Given the description of an element on the screen output the (x, y) to click on. 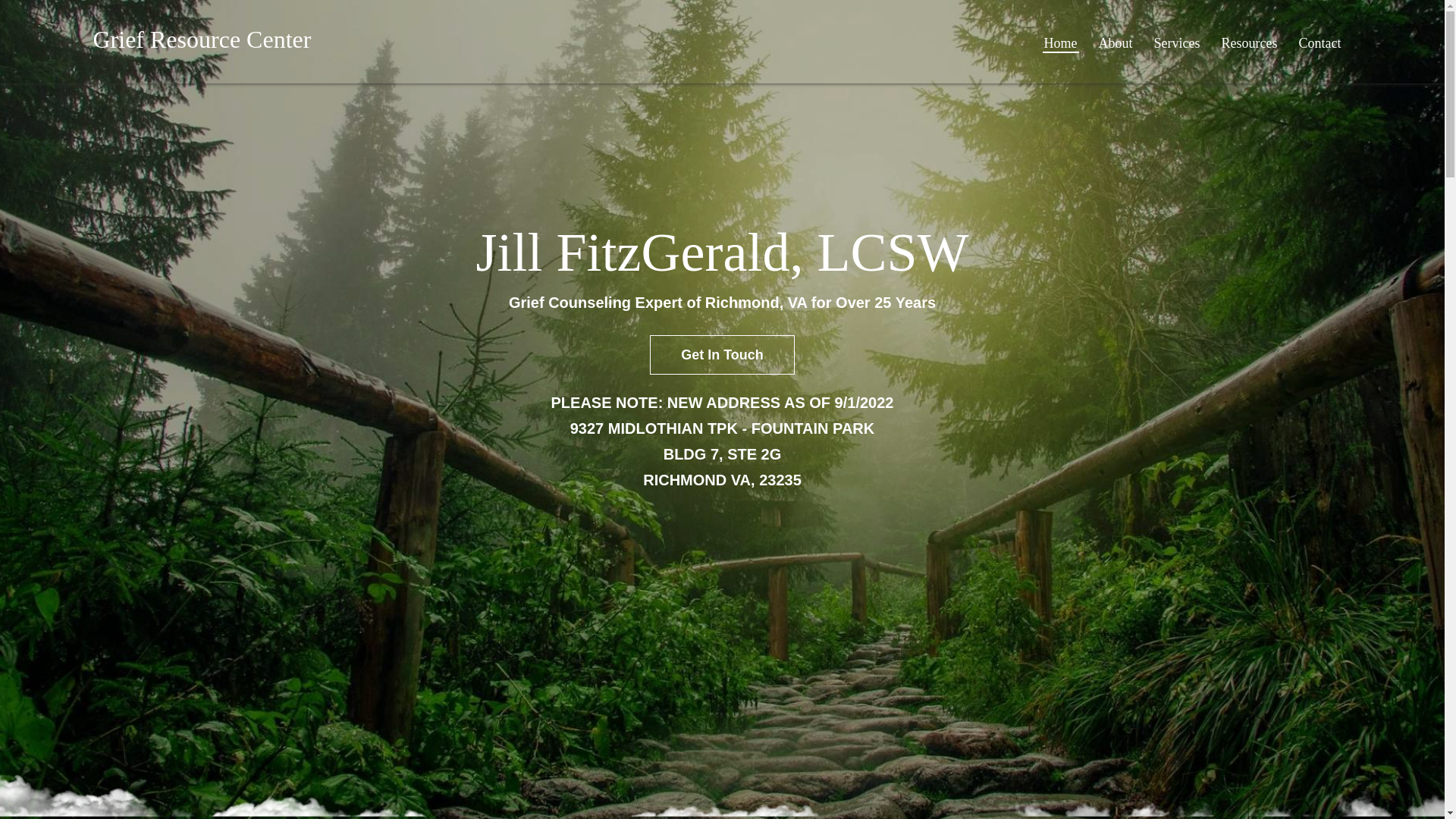
Grief Resource Center (202, 39)
Home (1060, 42)
Resources (1249, 42)
Contact (1319, 42)
About (1115, 42)
Get In Touch (721, 354)
Services (1177, 42)
